Given the description of an element on the screen output the (x, y) to click on. 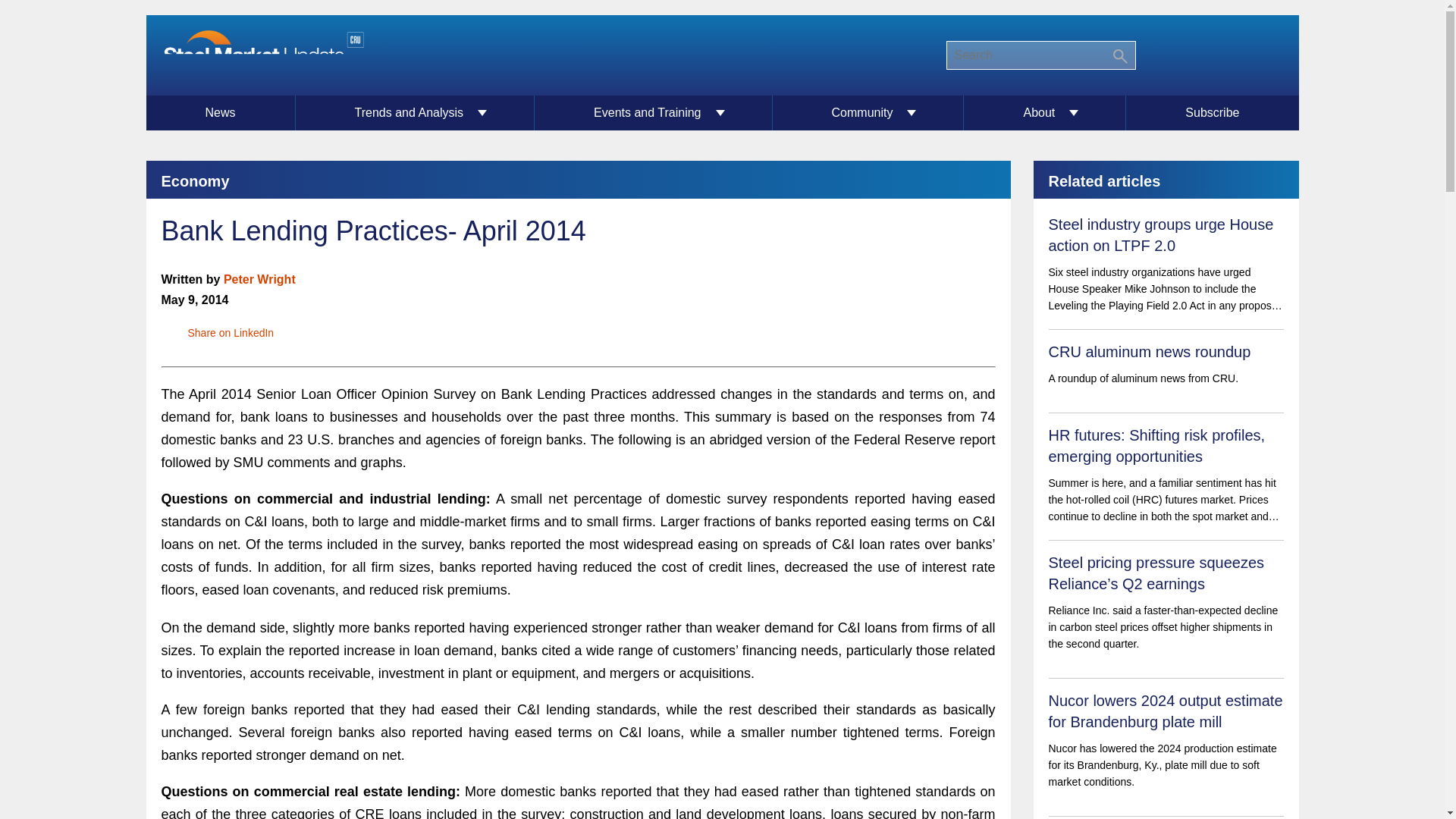
Home (262, 55)
Trends and Analysis (415, 112)
News (220, 112)
